Given the description of an element on the screen output the (x, y) to click on. 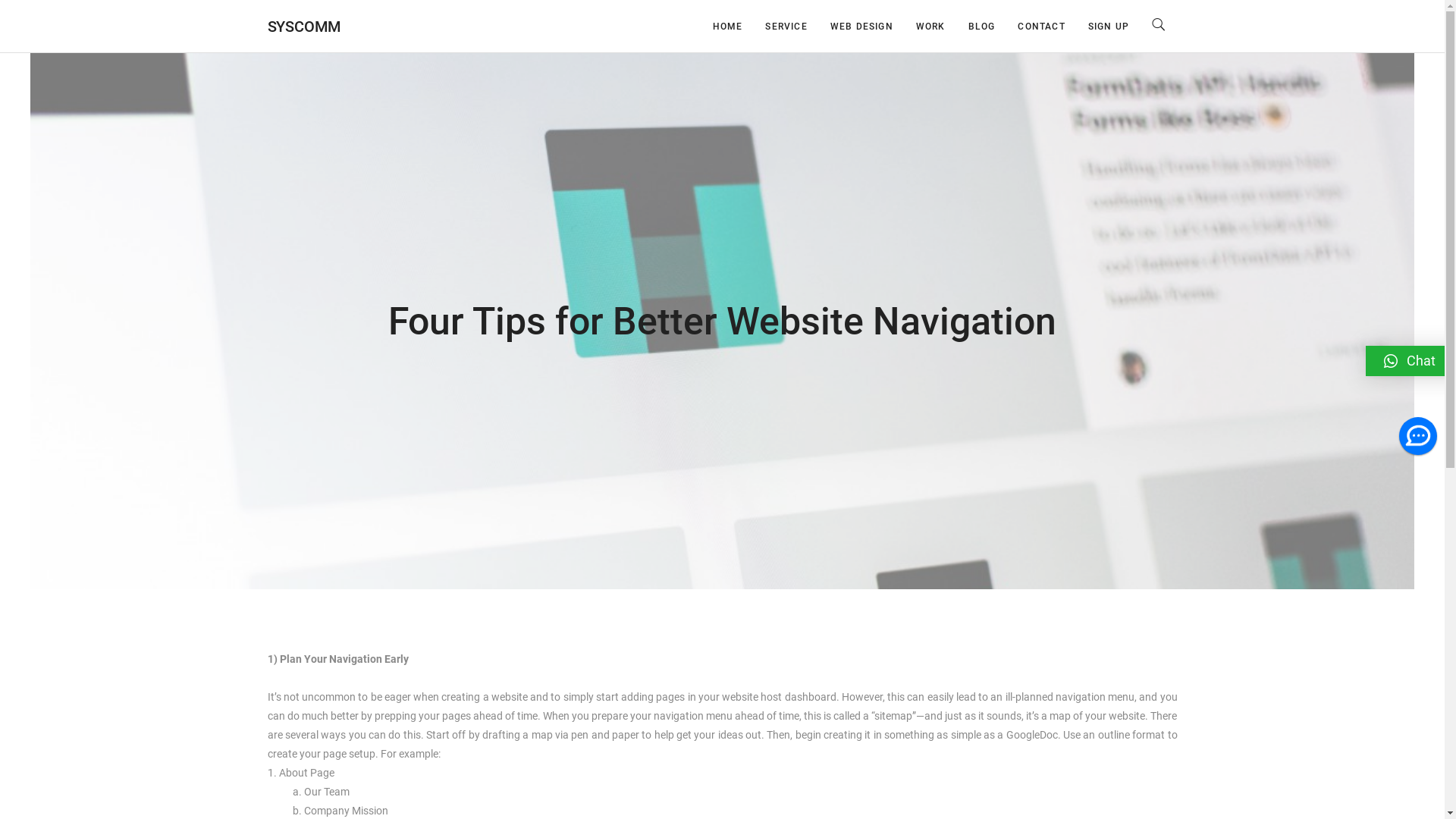
BLOG Element type: text (982, 26)
WEB DESIGN Element type: text (861, 26)
SERVICE Element type: text (785, 26)
SYSCOMM Element type: text (303, 26)
CONTACT Element type: text (1041, 26)
WORK Element type: text (930, 26)
HOME Element type: text (727, 26)
SIGN UP Element type: text (1108, 26)
